Given the description of an element on the screen output the (x, y) to click on. 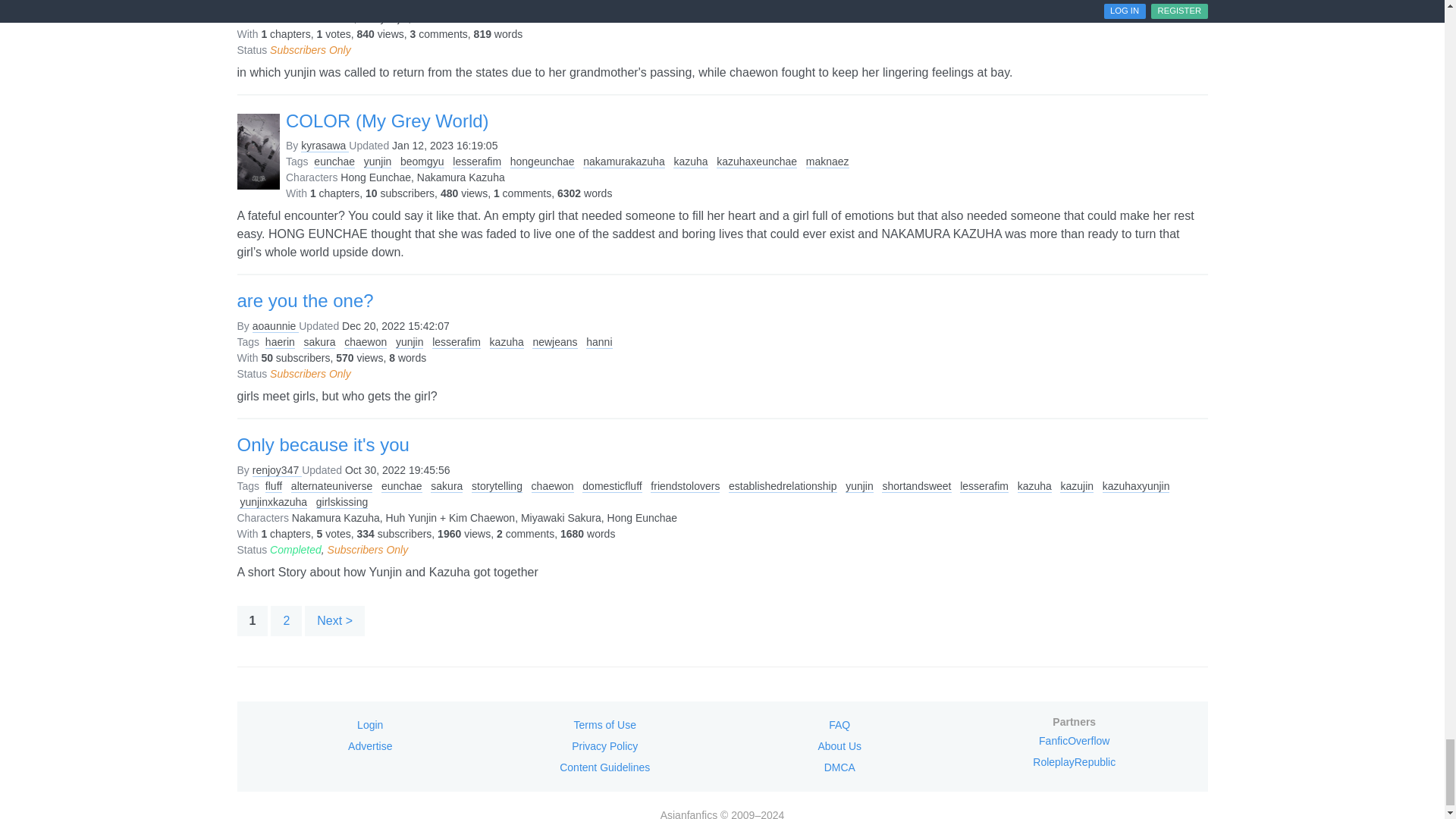
FAQ (839, 724)
